Given the description of an element on the screen output the (x, y) to click on. 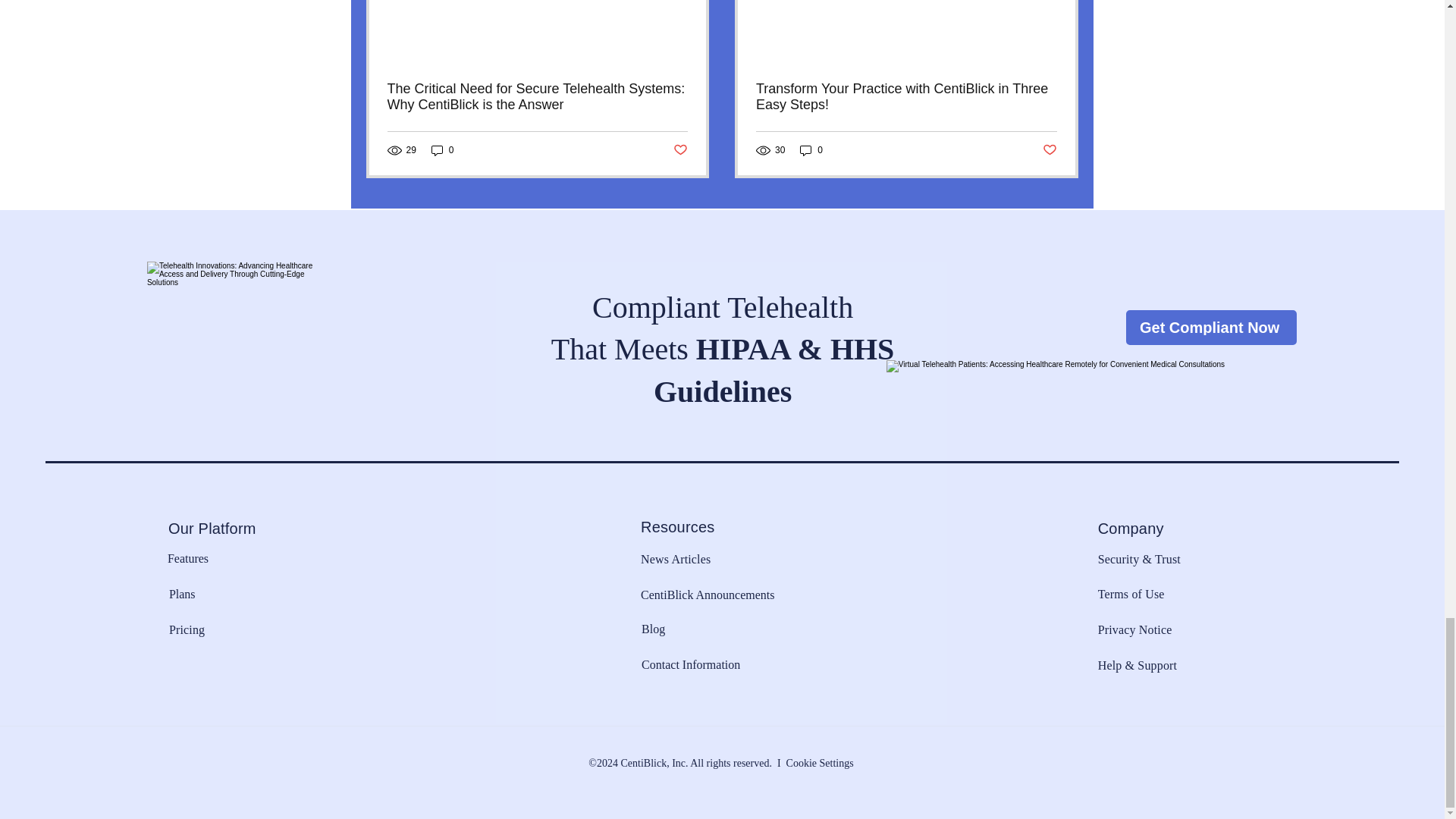
Post not marked as liked (679, 150)
0 (810, 150)
0 (442, 150)
Transform Your Practice with CentiBlick in Three Easy Steps! (906, 97)
Post not marked as liked (1049, 150)
